Given the description of an element on the screen output the (x, y) to click on. 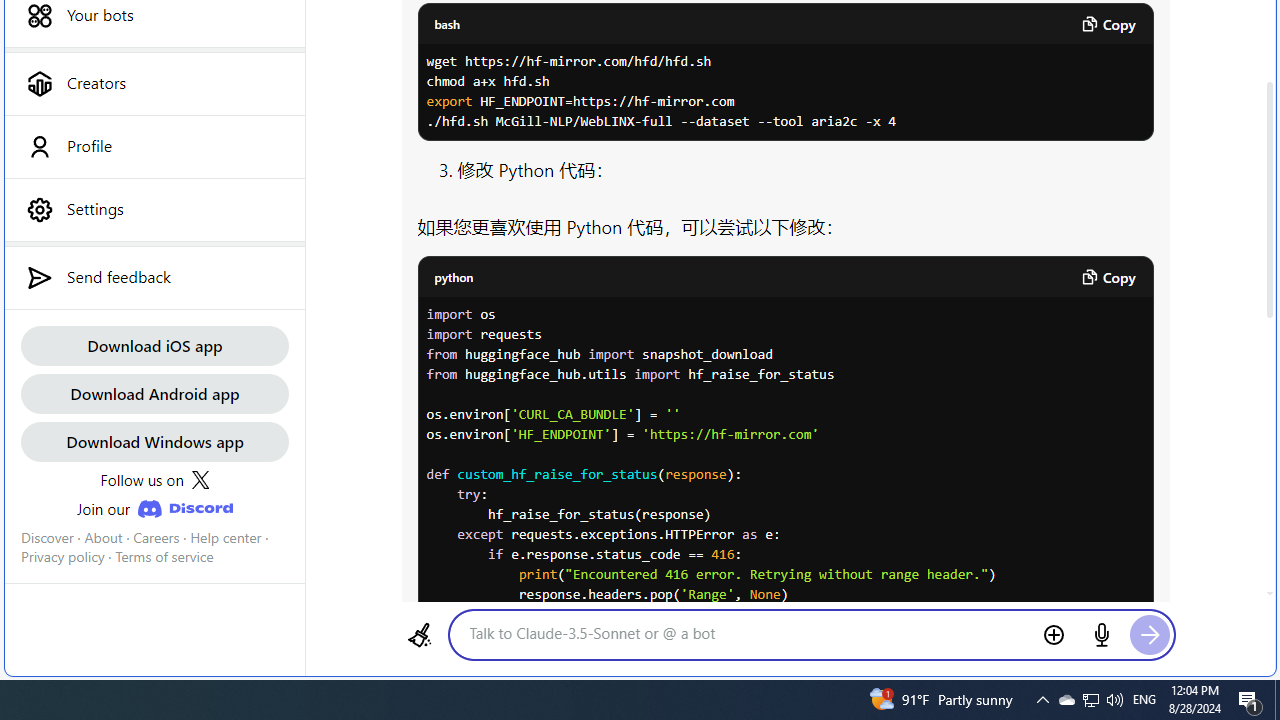
About (103, 537)
Careers (156, 537)
Help center (225, 537)
Follow us on (154, 479)
Talk to Claude-3.5-Sonnet or @ a bot (747, 633)
Download Android app (154, 392)
Settings (154, 209)
Download Windows app (154, 441)
